Given the description of an element on the screen output the (x, y) to click on. 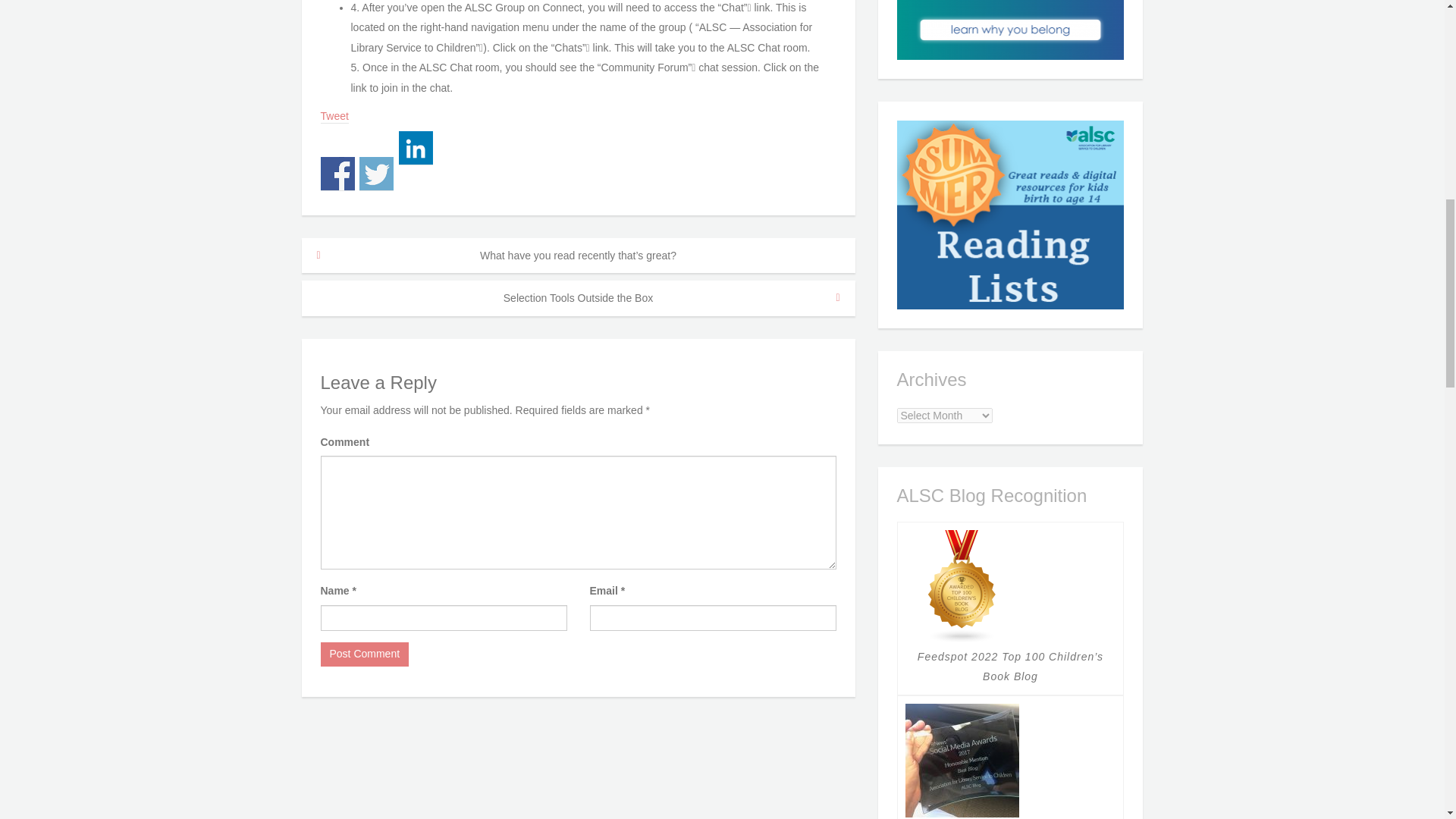
Share on Twitter (376, 173)
Tweet (333, 116)
Selection Tools Outside the Box (578, 298)
Post Comment (364, 654)
Share on Facebook (336, 173)
Post Comment (364, 654)
Share on Linkedin (415, 148)
